Given the description of an element on the screen output the (x, y) to click on. 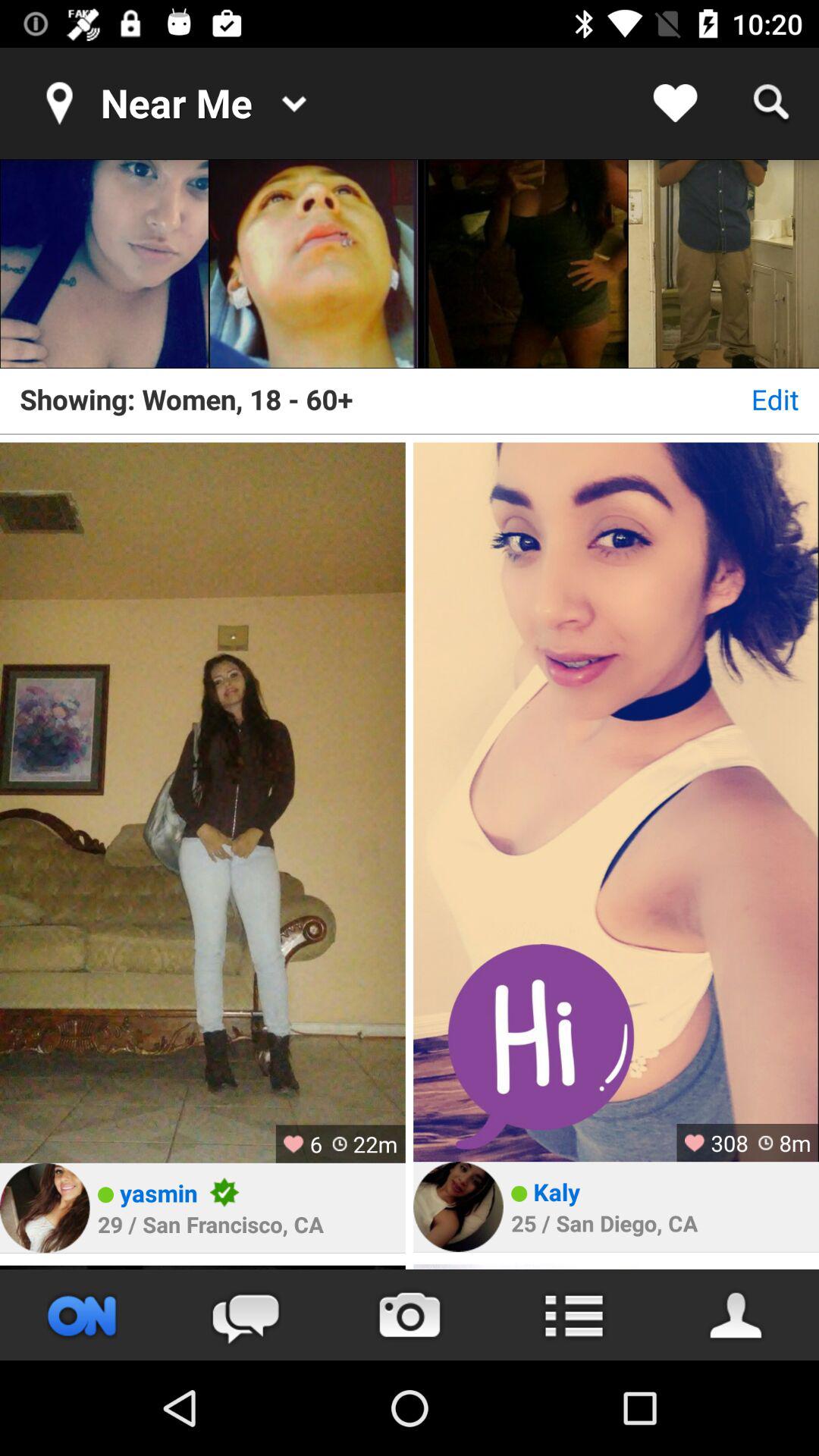
take photo (409, 1315)
